Given the description of an element on the screen output the (x, y) to click on. 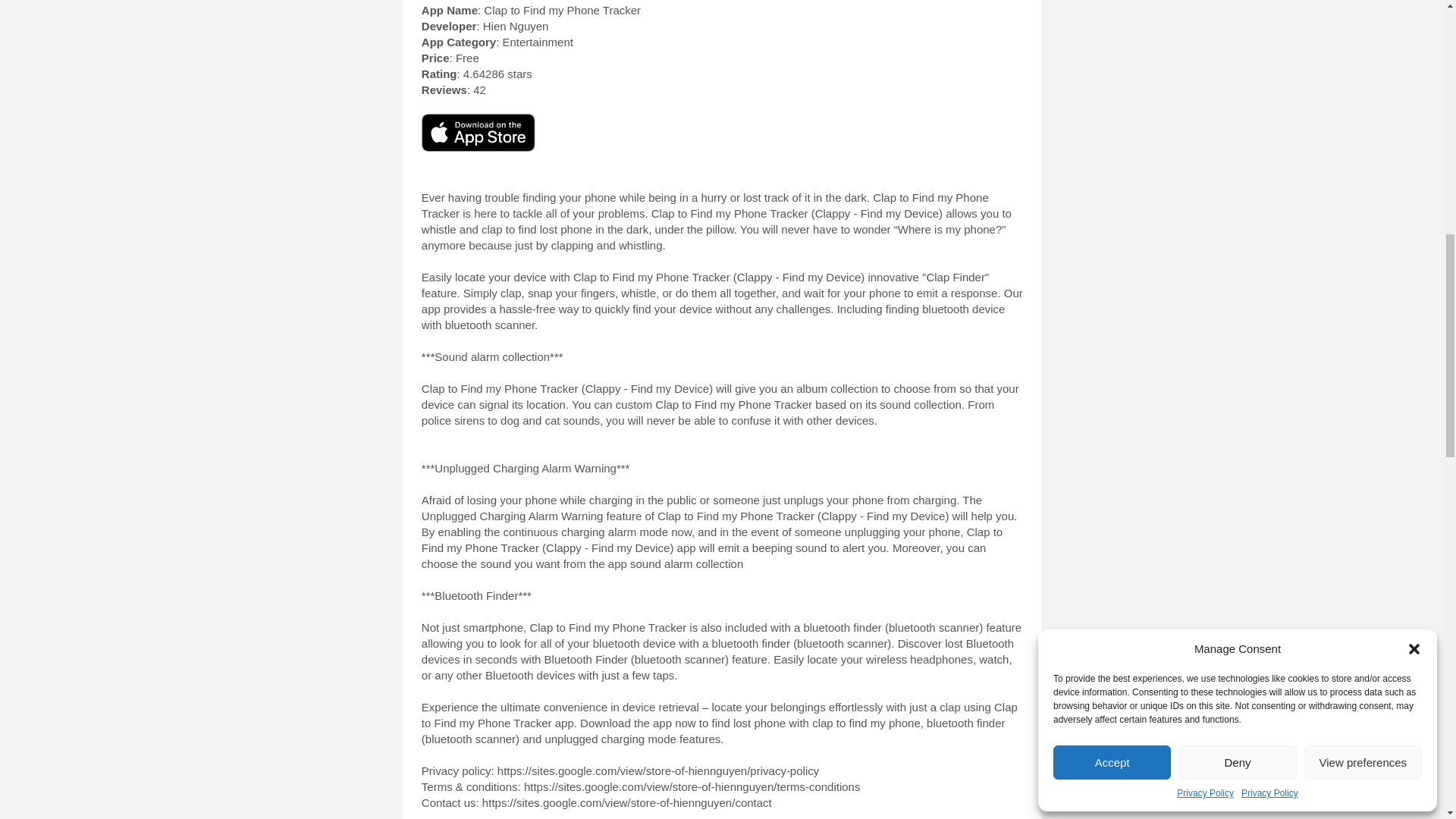
Scarica l'app ora (478, 132)
